Given the description of an element on the screen output the (x, y) to click on. 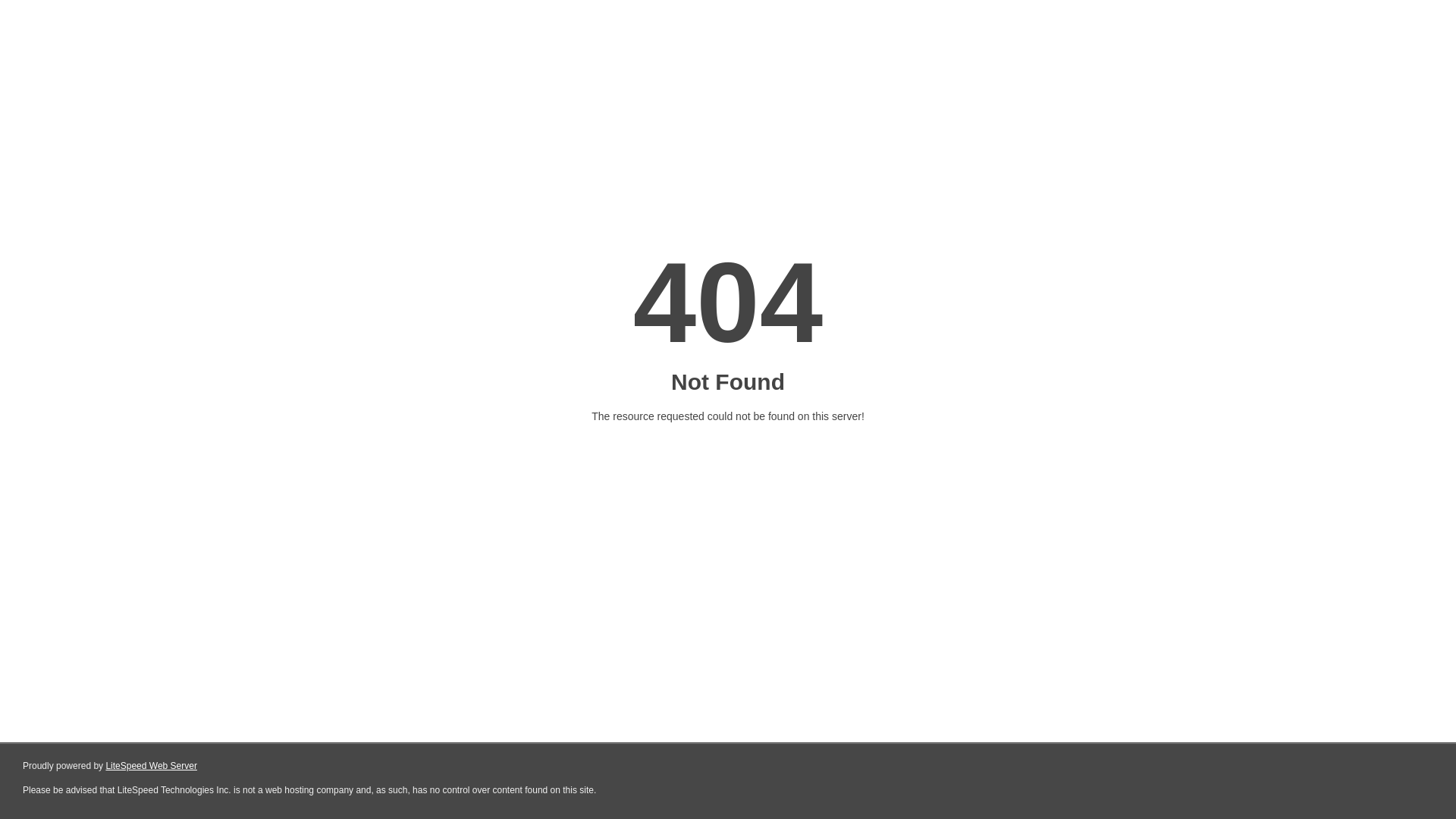
LiteSpeed Web Server Element type: text (151, 765)
